Given the description of an element on the screen output the (x, y) to click on. 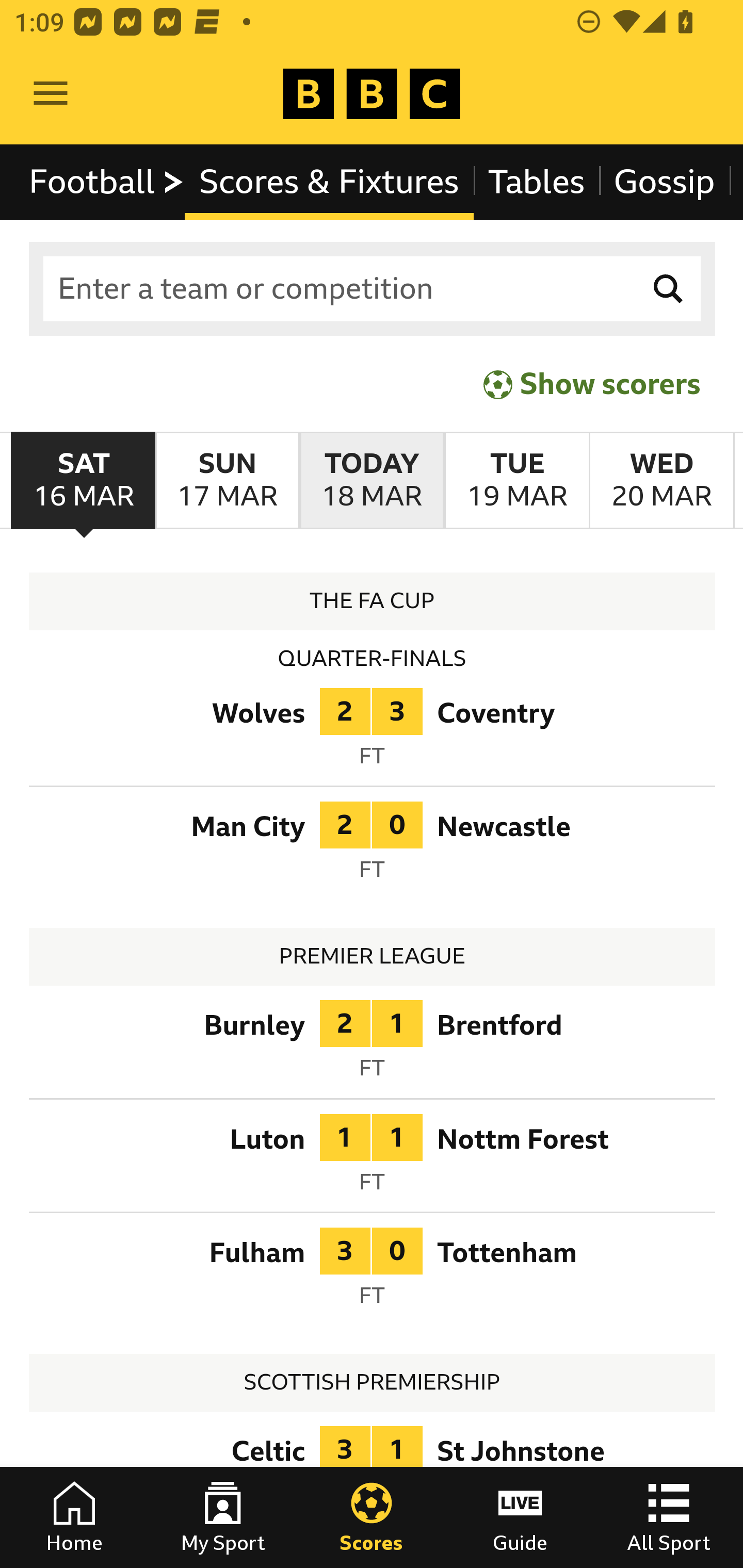
Open Menu (50, 93)
Football  (106, 181)
Scores & Fixtures (329, 181)
Tables (536, 181)
Gossip (664, 181)
Search (669, 289)
Show scorers (591, 383)
SundayMarch 17th Sunday March 17th (227, 480)
TodayMarch 18th Today March 18th (371, 480)
TuesdayMarch 19th Tuesday March 19th (516, 480)
WednesdayMarch 20th Wednesday March 20th (661, 480)
68519748 Burnley 2 Brentford 1 Full Time (372, 1044)
68519744 Fulham 3 Tottenham Hotspur 0 Full Time (372, 1272)
Home (74, 1517)
My Sport (222, 1517)
Guide (519, 1517)
All Sport (668, 1517)
